Given the description of an element on the screen output the (x, y) to click on. 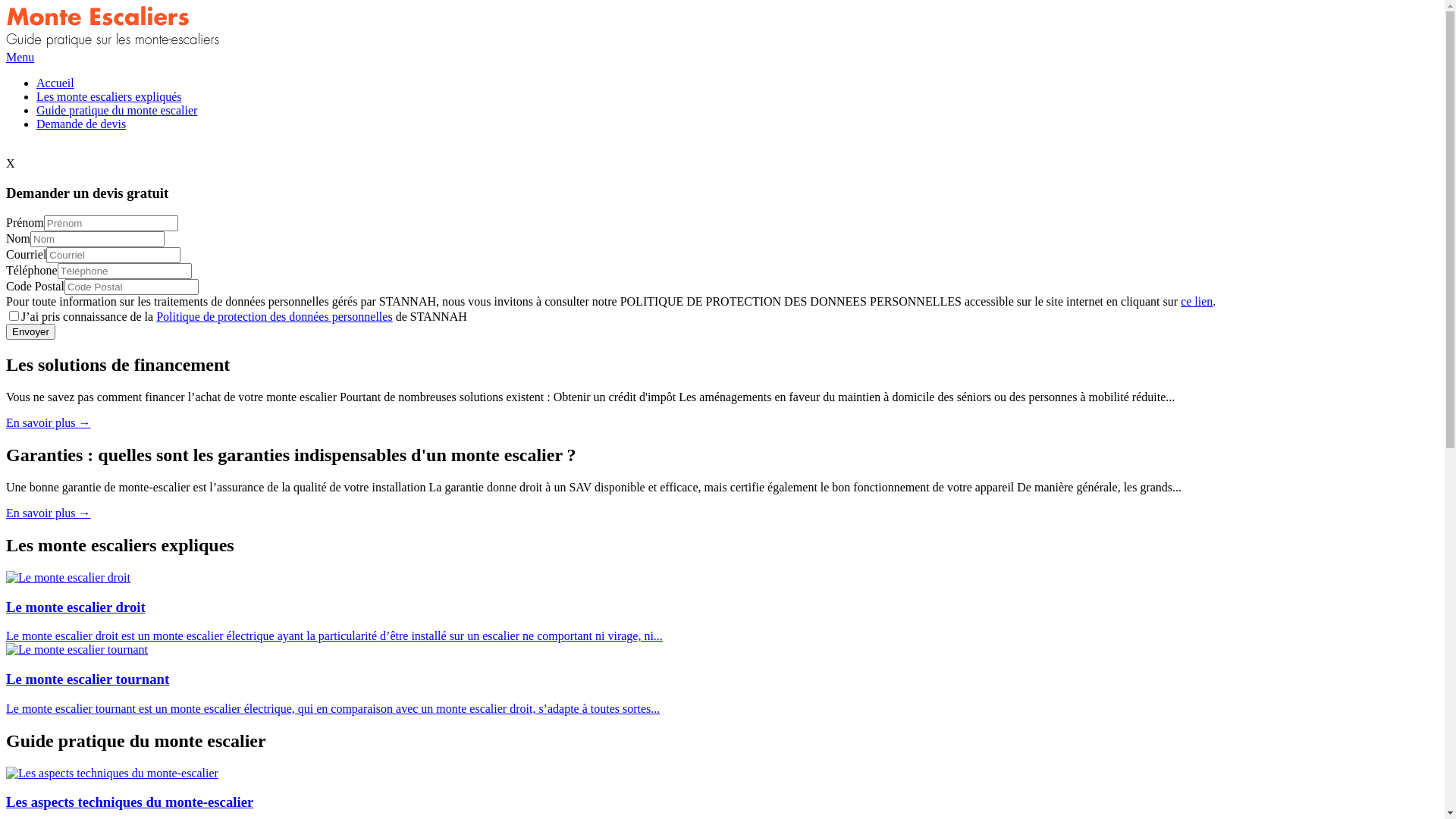
Demande de devis Element type: text (737, 124)
Accueil Element type: text (737, 83)
ce lien Element type: text (1196, 300)
Guide pratique du monte escalier Element type: text (737, 110)
Envoyer Element type: text (30, 331)
Menu Element type: text (20, 56)
